Given the description of an element on the screen output the (x, y) to click on. 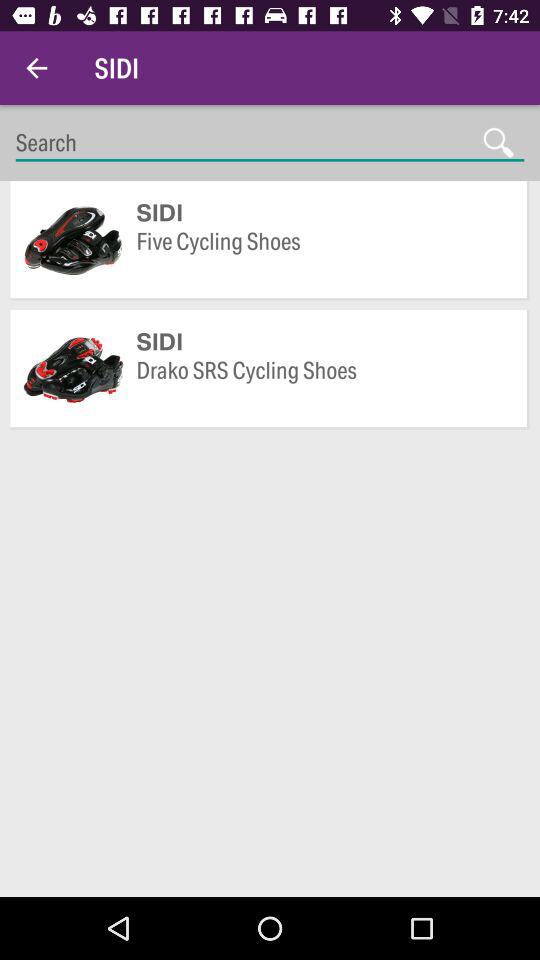
enter search term (269, 142)
